Given the description of an element on the screen output the (x, y) to click on. 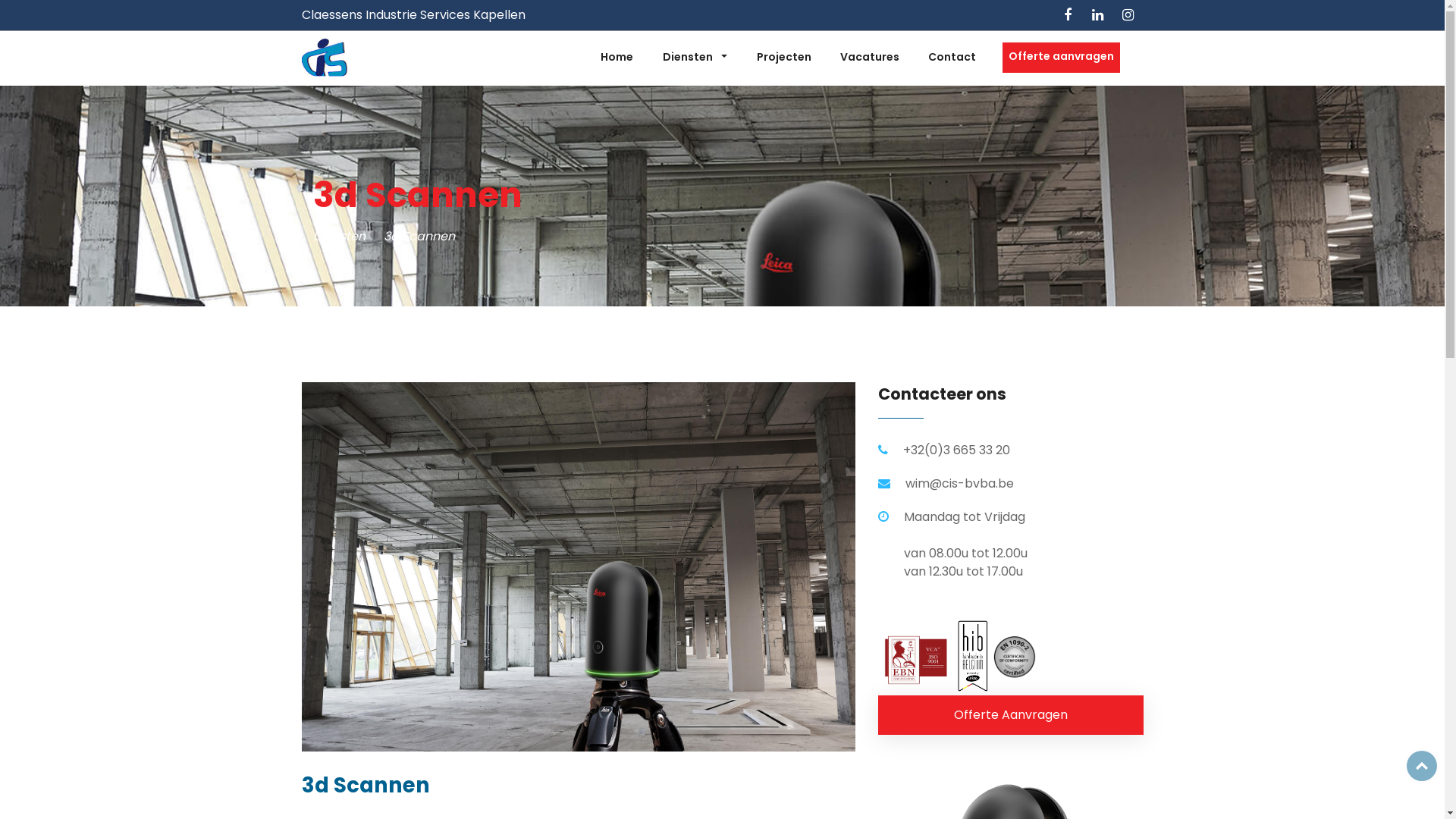
Diensten Element type: text (338, 235)
Diensten Element type: text (695, 58)
Top Element type: text (1421, 765)
+32(0)3 665 33 20 Element type: text (955, 449)
Offerte Aanvragen Element type: text (1010, 714)
wim@cis-bvba.be Element type: text (959, 483)
Contact Element type: text (951, 58)
Projecten Element type: text (783, 58)
Vacatures Element type: text (869, 58)
Home Element type: text (616, 58)
Offerte aanvragen Element type: text (1061, 57)
